Given the description of an element on the screen output the (x, y) to click on. 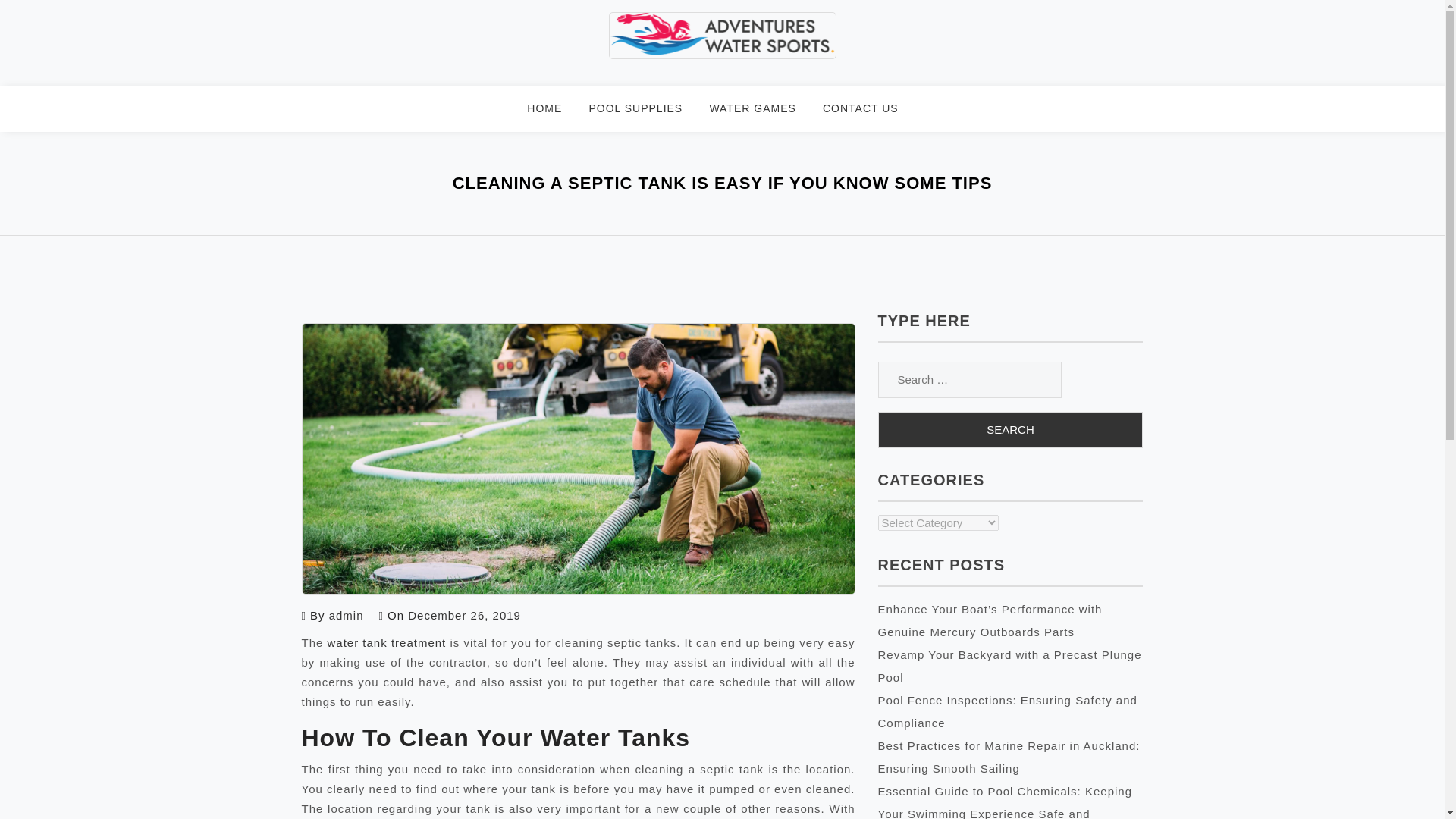
water tank treatment (386, 642)
POOL SUPPLIES (644, 108)
December 26, 2019 (464, 615)
CONTACT US (869, 108)
Search (1009, 429)
Revamp Your Backyard with a Precast Plunge Pool (1009, 665)
WATER GAMES (761, 108)
admin (346, 615)
Search (1009, 429)
